Given the description of an element on the screen output the (x, y) to click on. 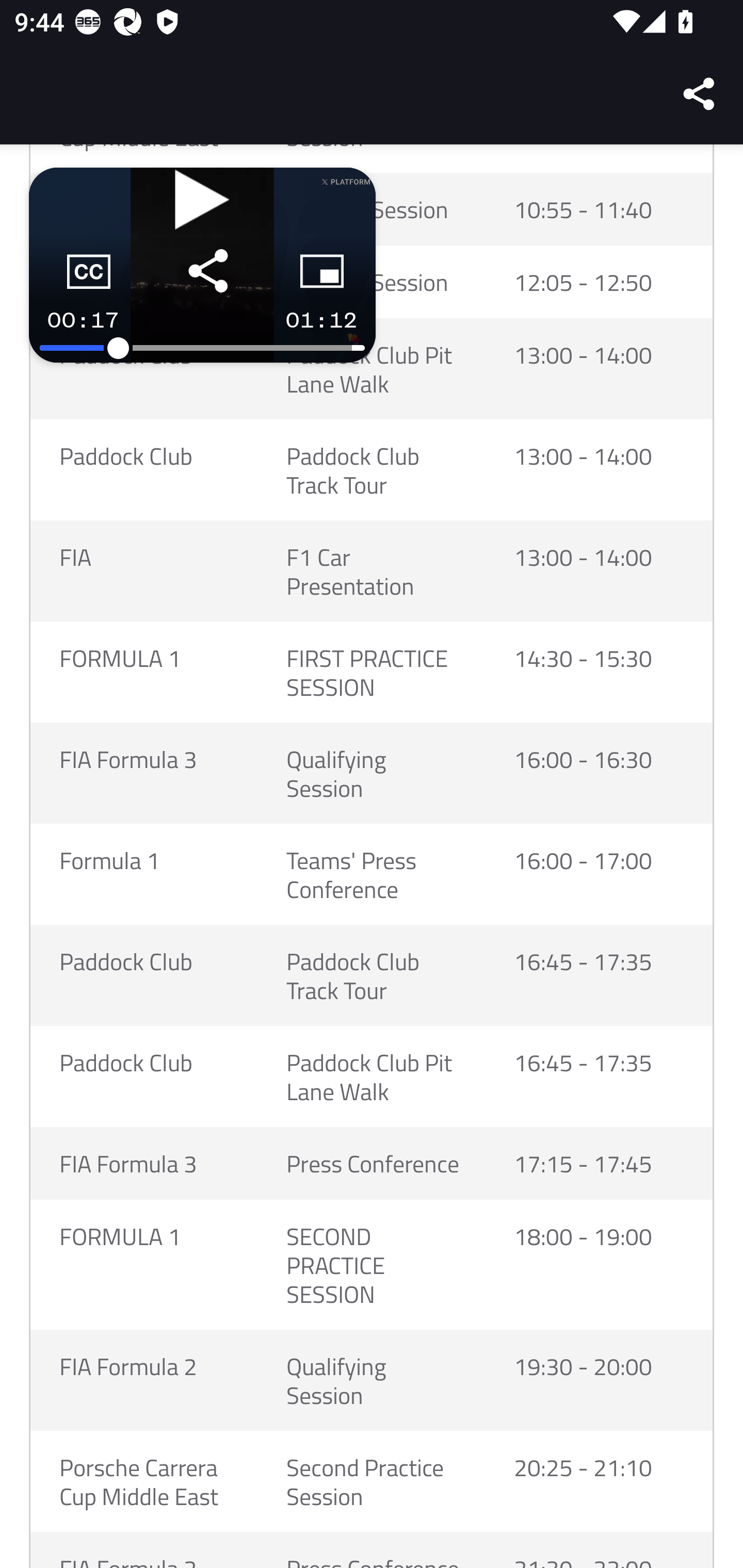
Share (699, 93)
